Given the description of an element on the screen output the (x, y) to click on. 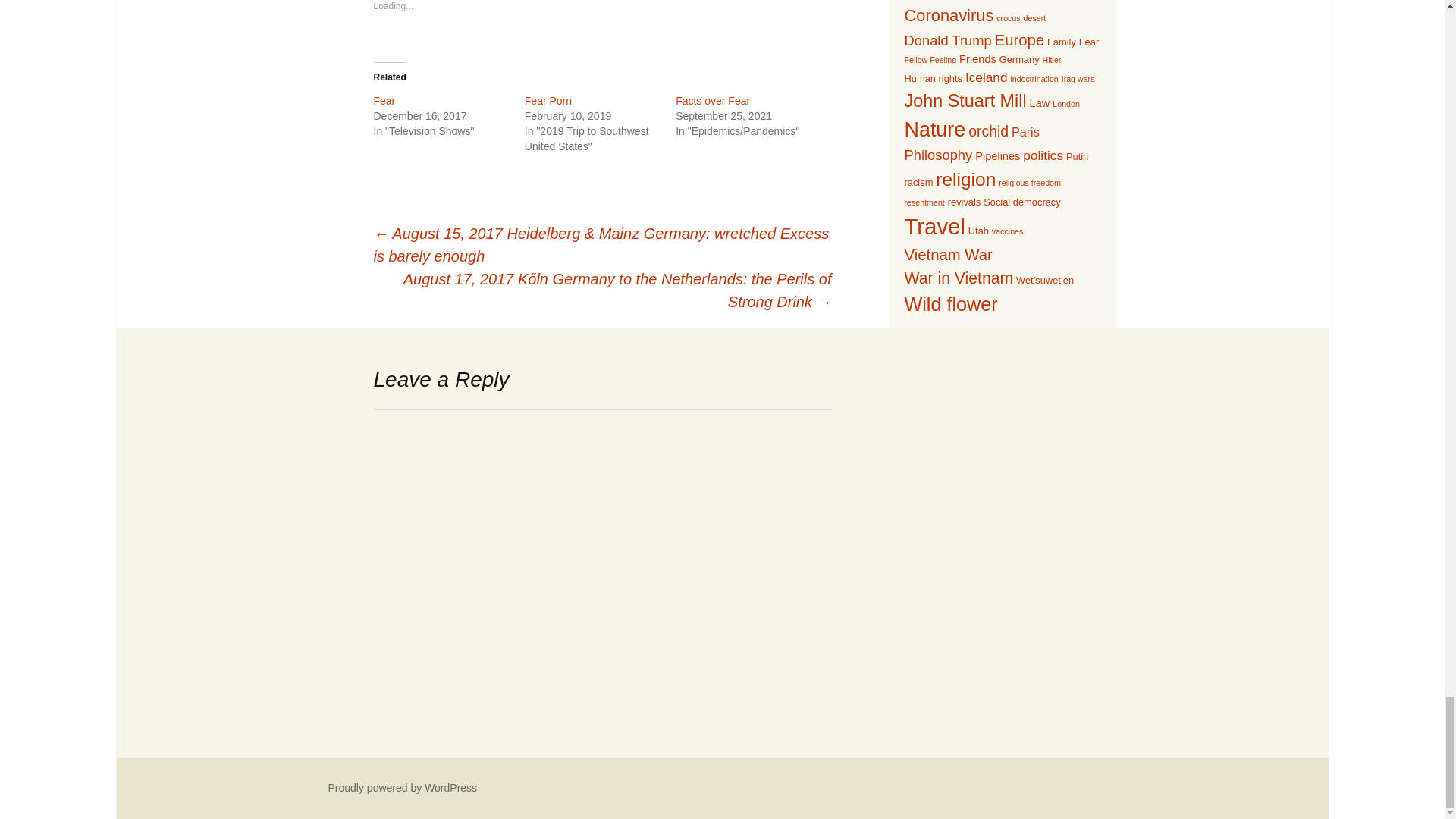
Facts over Fear (712, 101)
Fear Porn (548, 101)
Fear (383, 101)
